Given the description of an element on the screen output the (x, y) to click on. 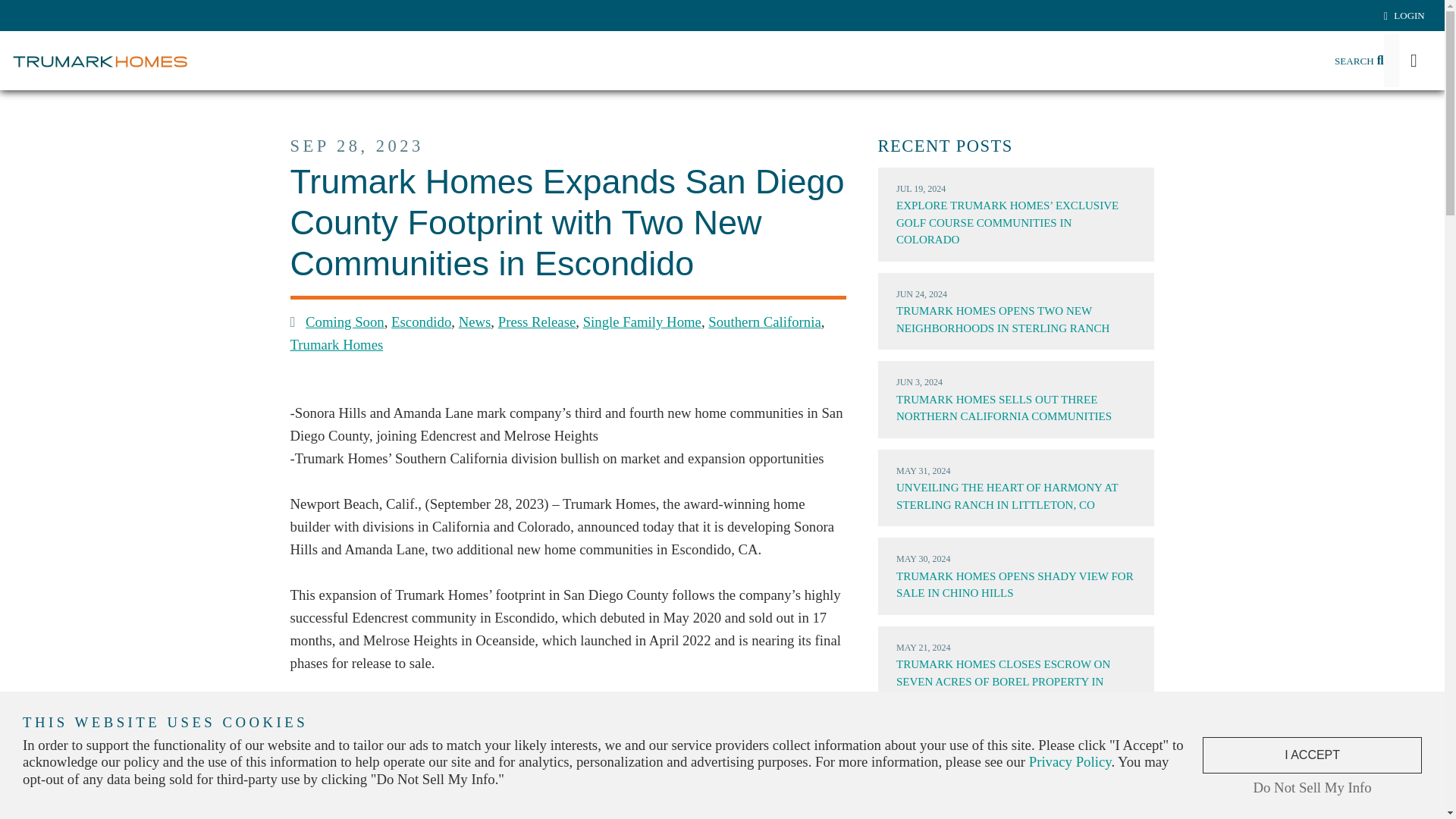
LOGIN (1404, 15)
